Given the description of an element on the screen output the (x, y) to click on. 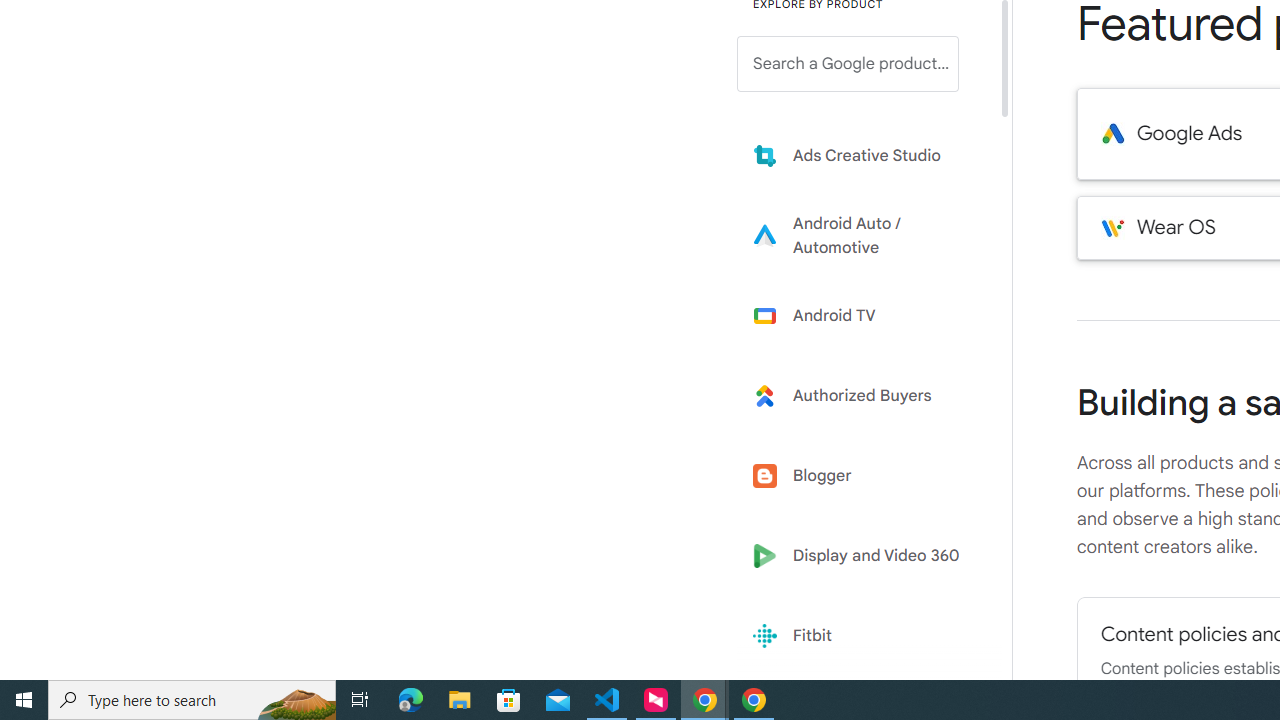
Fitbit (862, 636)
Learn more about Ads Creative Studio (862, 155)
Learn more about Authorized Buyers (862, 395)
Display and Video 360 (862, 556)
Search a Google product from below list. (847, 64)
Fitbit (862, 636)
Learn more about Android TV (862, 315)
Learn more about Ads Creative Studio (862, 155)
Learn more about Authorized Buyers (862, 395)
Learn more about Android Auto (862, 235)
Display and Video 360 (862, 556)
Blogger (862, 476)
Learn more about Android TV (862, 315)
Learn more about Android Auto (862, 235)
Blogger (862, 476)
